Given the description of an element on the screen output the (x, y) to click on. 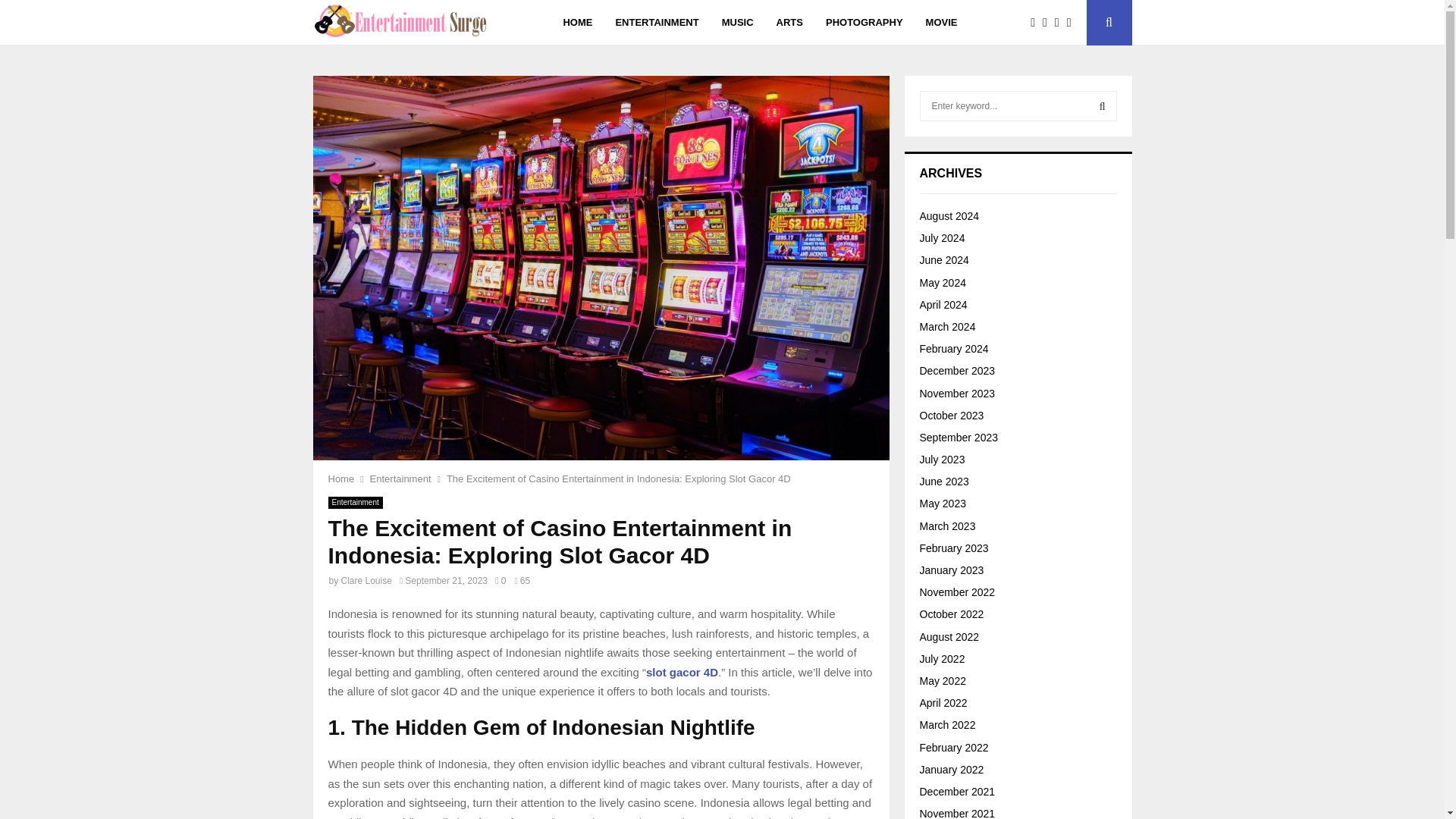
May 2024 (941, 282)
slot gacor 4D (681, 671)
July 2024 (940, 237)
June 2024 (943, 259)
August 2024 (948, 215)
PHOTOGRAPHY (863, 22)
SEARCH (1101, 105)
Entertainment (399, 478)
ENTERTAINMENT (656, 22)
Clare Louise (365, 580)
